Given the description of an element on the screen output the (x, y) to click on. 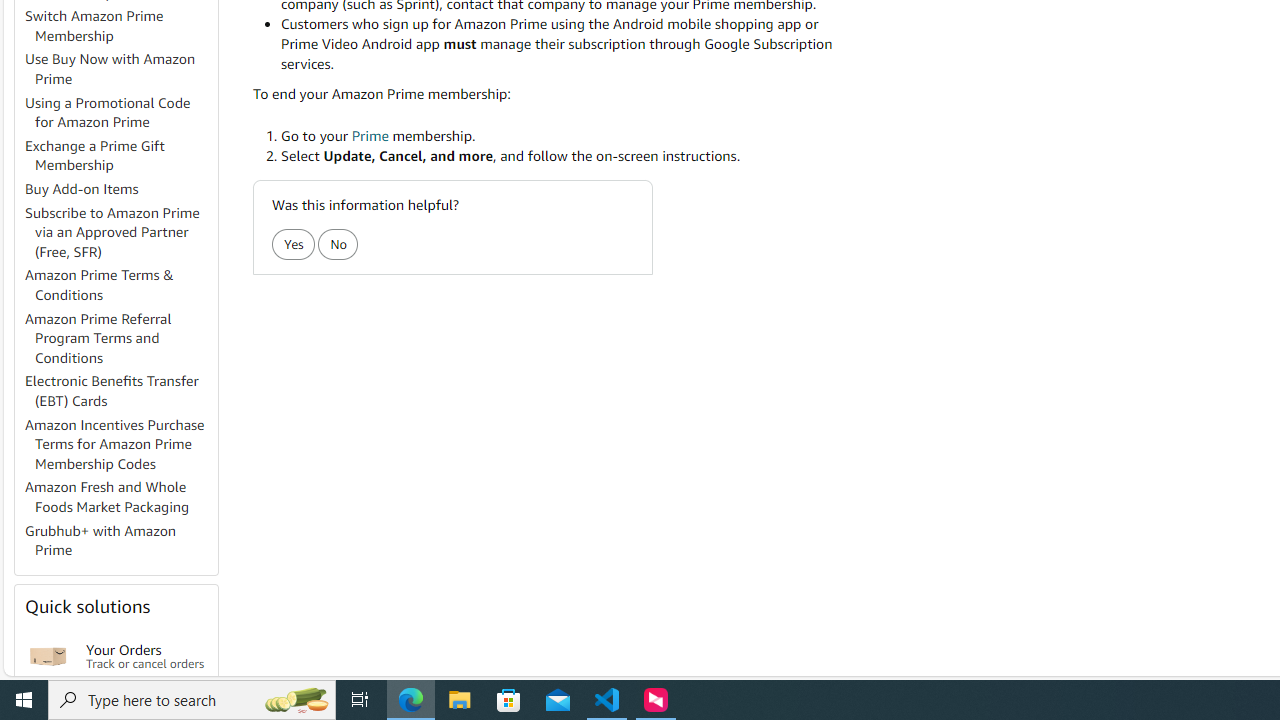
Use Buy Now with Amazon Prime (120, 69)
Go to your Prime membership. (566, 135)
Electronic Benefits Transfer (EBT) Cards (120, 391)
Use Buy Now with Amazon Prime (110, 69)
Amazon Fresh and Whole Foods Market Packaging (107, 497)
Amazon Prime Terms & Conditions (99, 284)
Your Orders Track or cancel orders (145, 656)
Using a Promotional Code for Amazon Prime (120, 112)
Buy Add-on Items (82, 189)
Yes (292, 243)
Amazon Fresh and Whole Foods Market Packaging (120, 497)
Amazon Prime Referral Program Terms and Conditions (98, 337)
No (338, 243)
Exchange a Prime Gift Membership (95, 155)
